Given the description of an element on the screen output the (x, y) to click on. 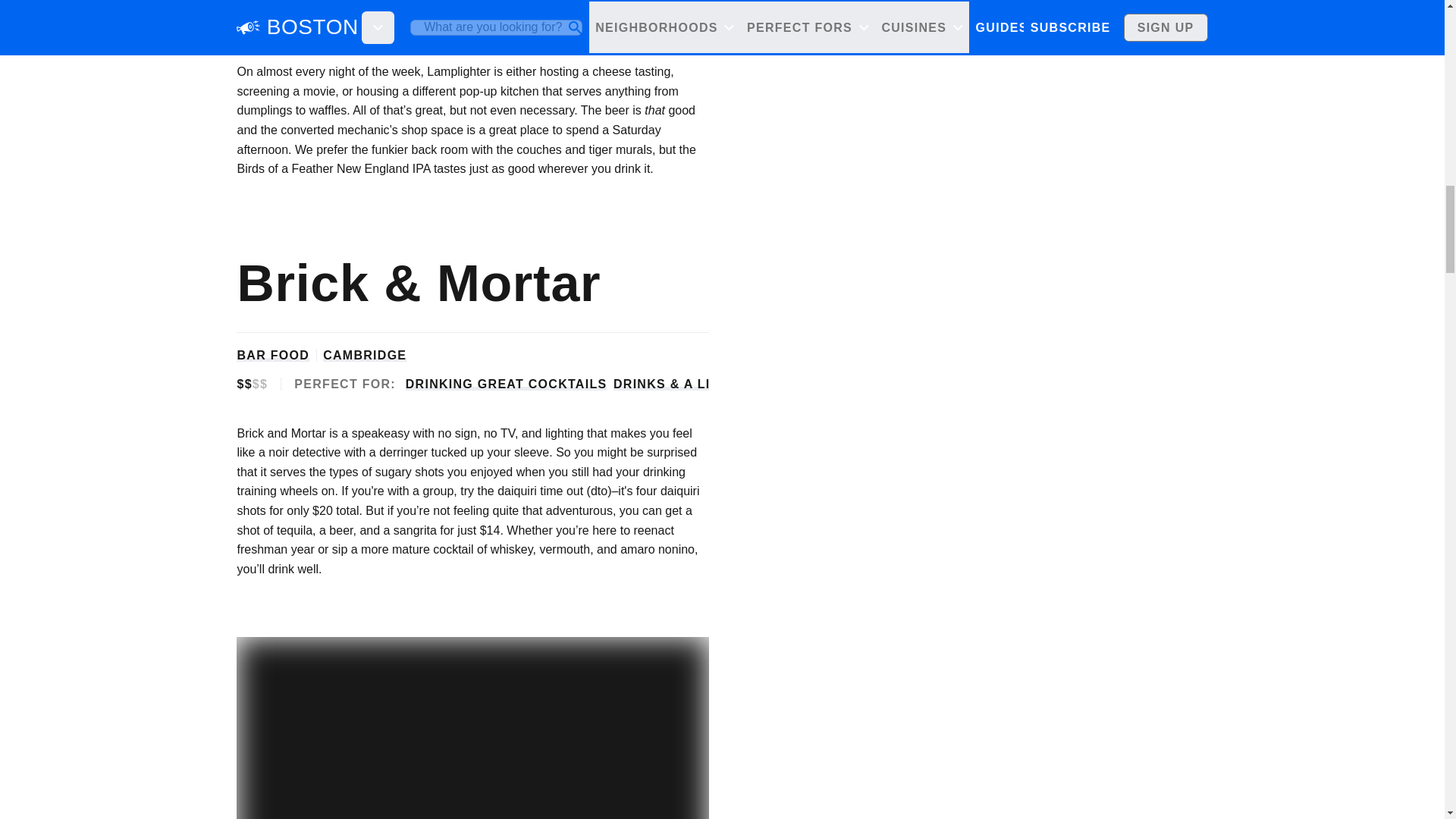
DRINKING GREAT BEER (486, 23)
CAMBRIDGE (364, 355)
DRINKING GREAT COCKTAILS (506, 383)
INMAN SQUARE (372, 0)
BREWERY (269, 0)
BAR FOOD (271, 355)
LITERALLY EVERYONE (648, 23)
